Given the description of an element on the screen output the (x, y) to click on. 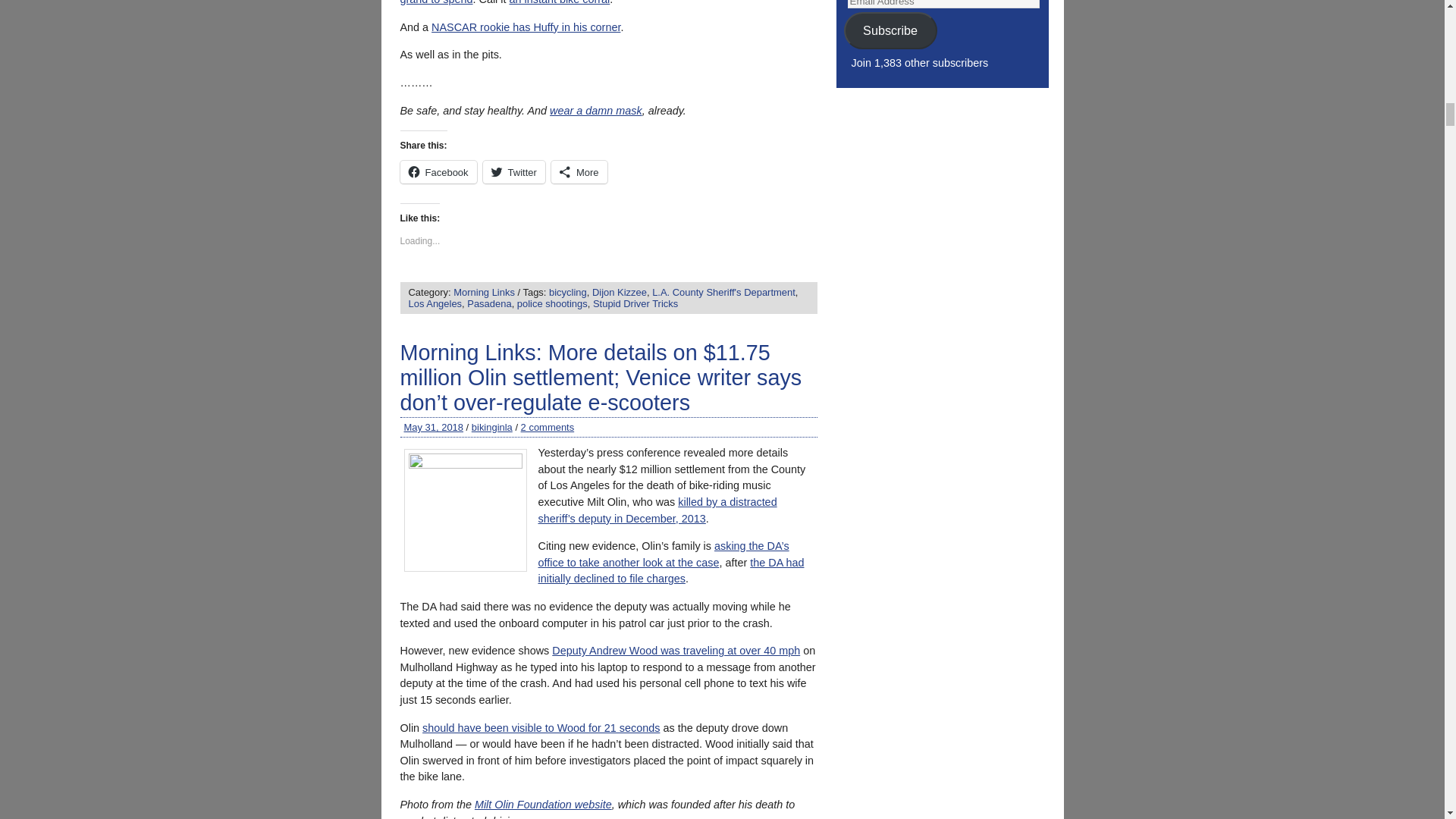
Click to share on Facebook (438, 171)
Click to share on Twitter (513, 171)
Posts by bikinginla (491, 427)
